Given the description of an element on the screen output the (x, y) to click on. 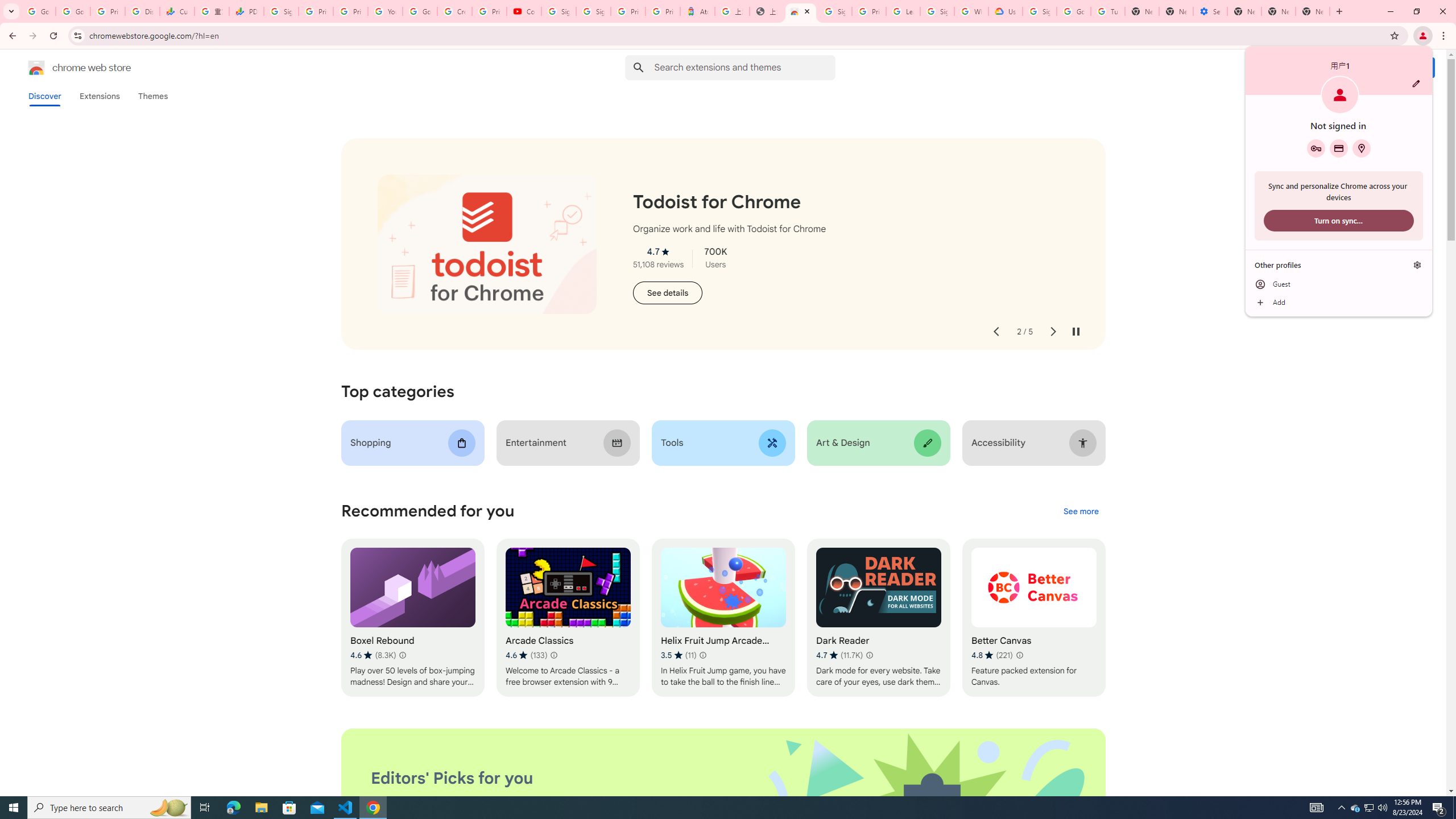
Themes (152, 95)
Better Canvas (1033, 617)
Manage profiles (1417, 265)
Boxel Rebound (412, 617)
Guest (1338, 284)
New Tab (1243, 11)
Privacy Checkup (349, 11)
Helix Fruit Jump Arcade Game (722, 617)
Arcade Classics (567, 617)
